Given the description of an element on the screen output the (x, y) to click on. 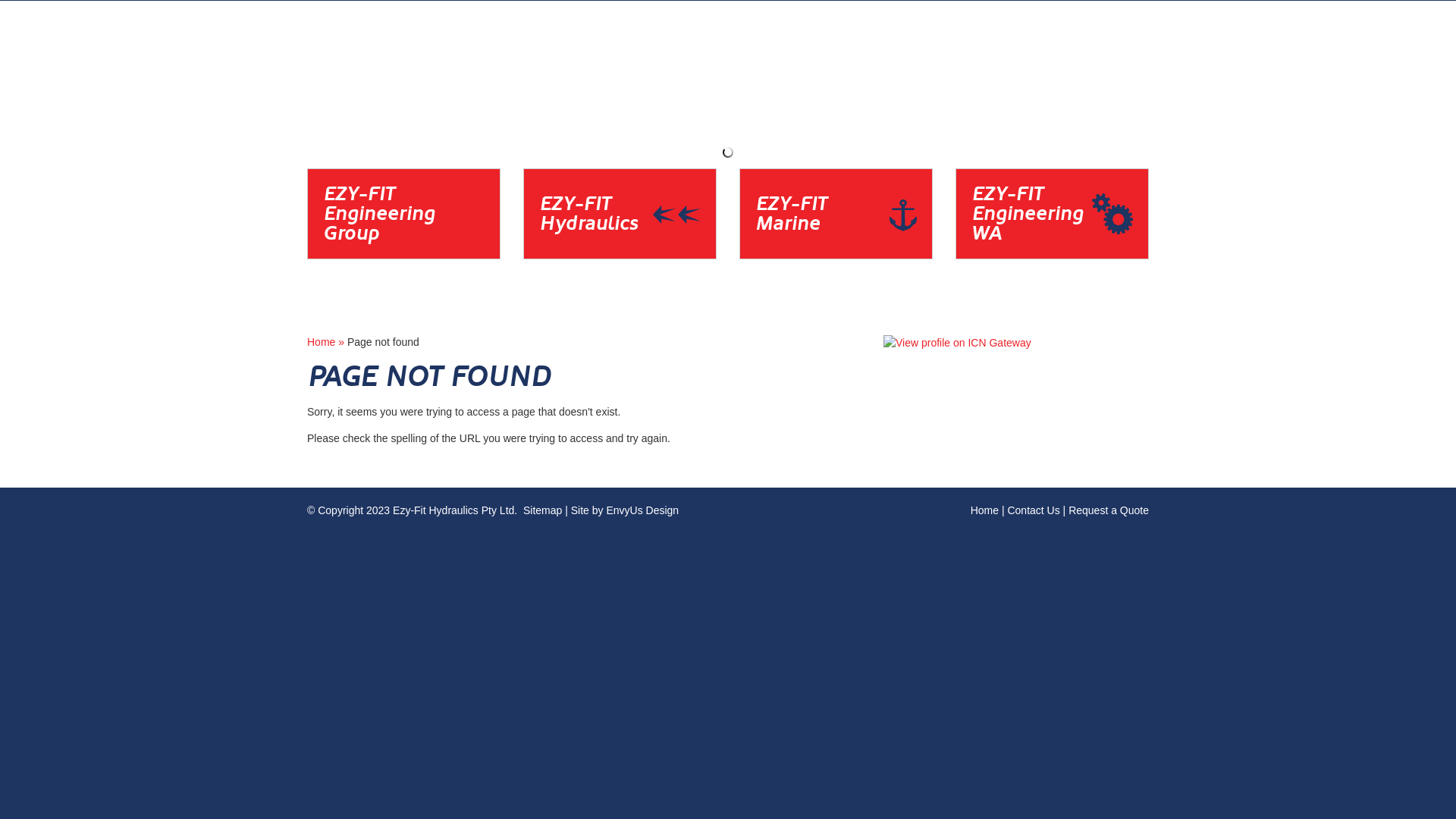
Sitemap Element type: text (542, 510)
EZY-FIT Hydraulics Element type: text (619, 254)
EZY-FIT Engineering Group Element type: text (403, 254)
Request a Quote Element type: text (1108, 510)
EZY-FIT Engineering WA Element type: text (1051, 254)
Site by EnvyUs Design Element type: text (624, 510)
EZY-FIT Marine Element type: text (835, 254)
Contact Us Element type: text (1033, 510)
Home Element type: text (984, 510)
